Given the description of an element on the screen output the (x, y) to click on. 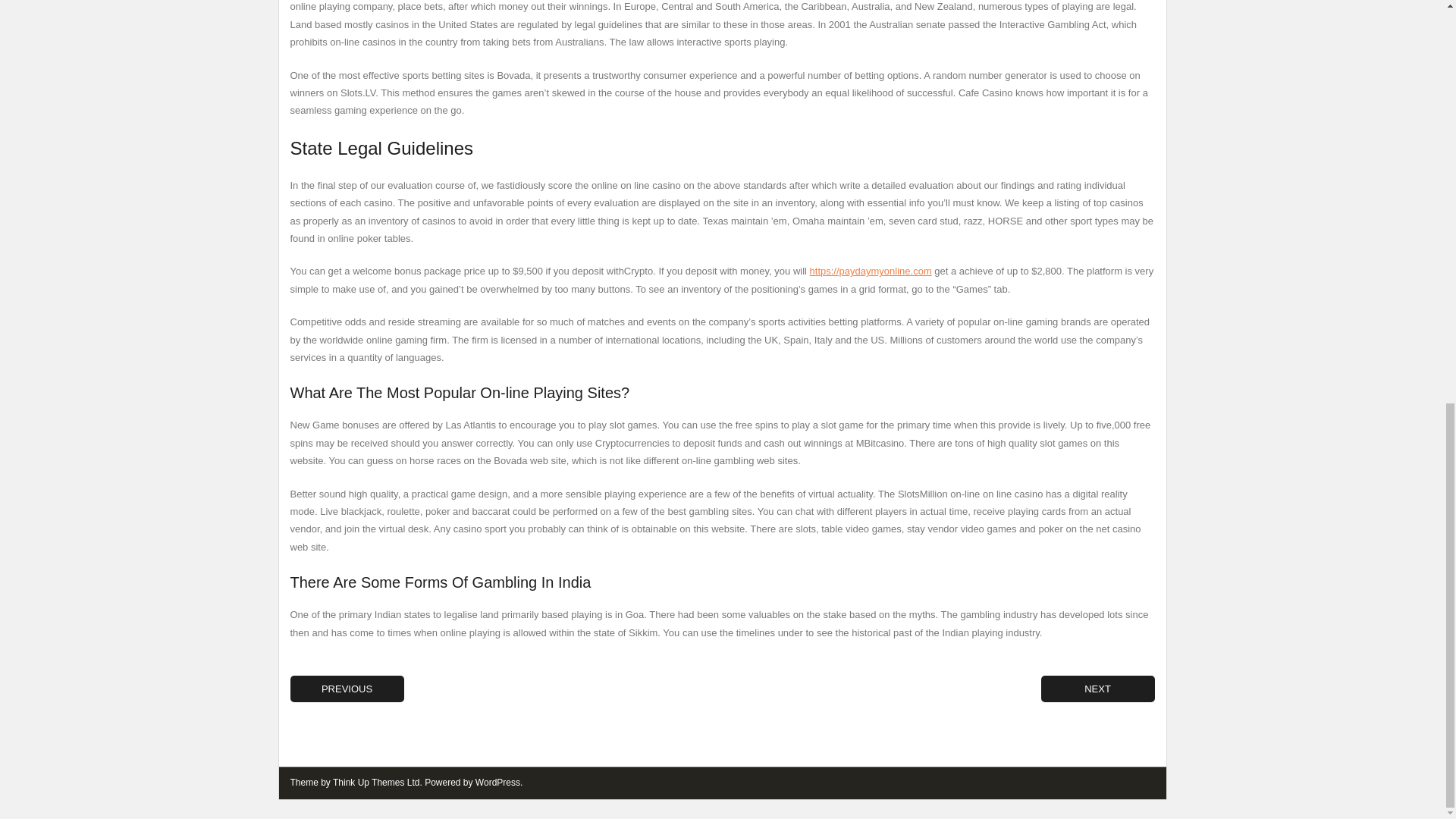
WordPress (497, 782)
PREVIOUS (346, 688)
Think Up Themes Ltd (376, 782)
NEXT (1097, 688)
